Given the description of an element on the screen output the (x, y) to click on. 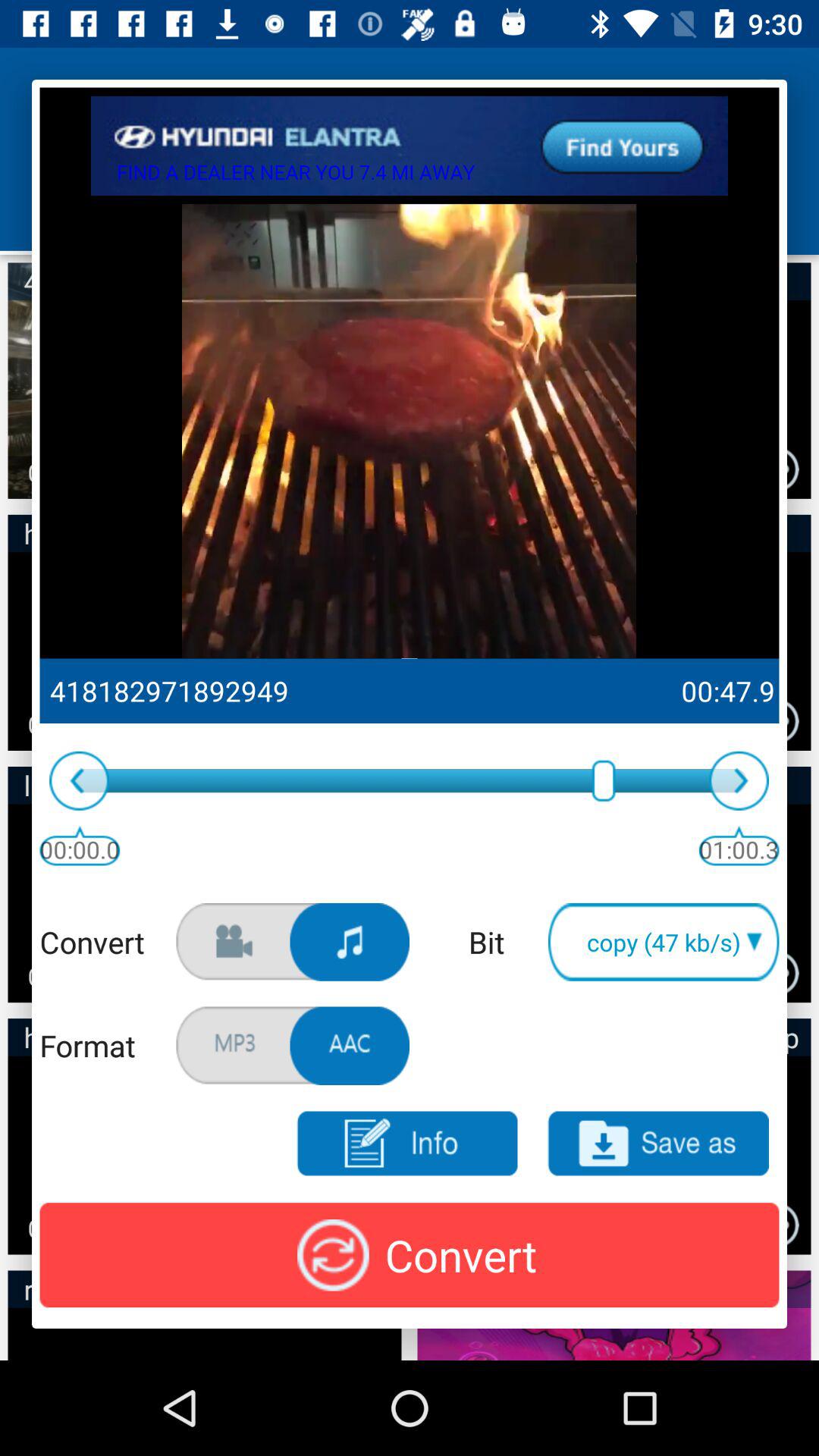
audio select option (349, 942)
